Given the description of an element on the screen output the (x, y) to click on. 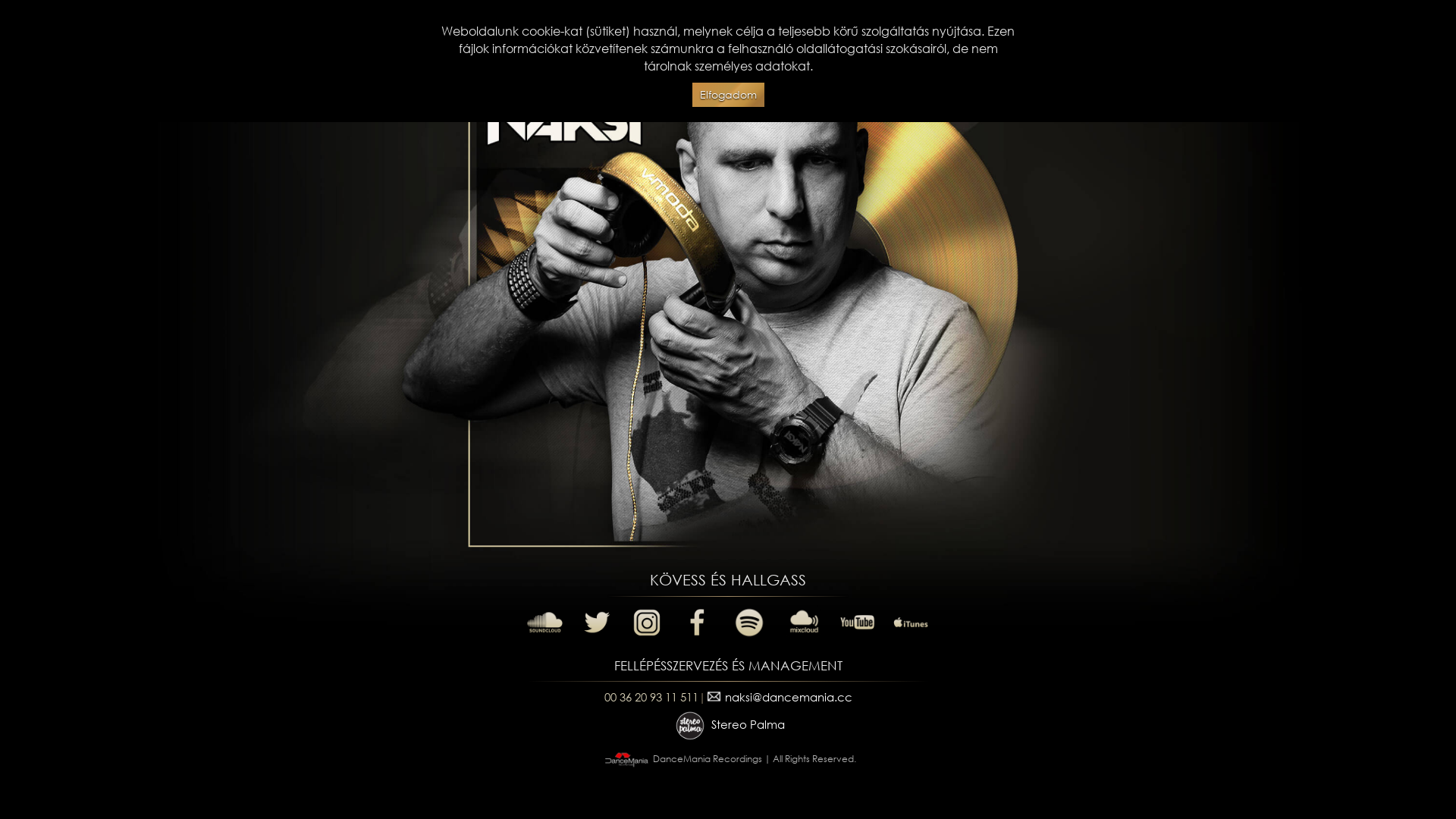
Elfogadom Element type: text (727, 94)
Stereo Palma Element type: text (727, 723)
00 36 20 93 11 511 Element type: text (650, 696)
naksi@dancemania.cc Element type: text (778, 696)
